Given the description of an element on the screen output the (x, y) to click on. 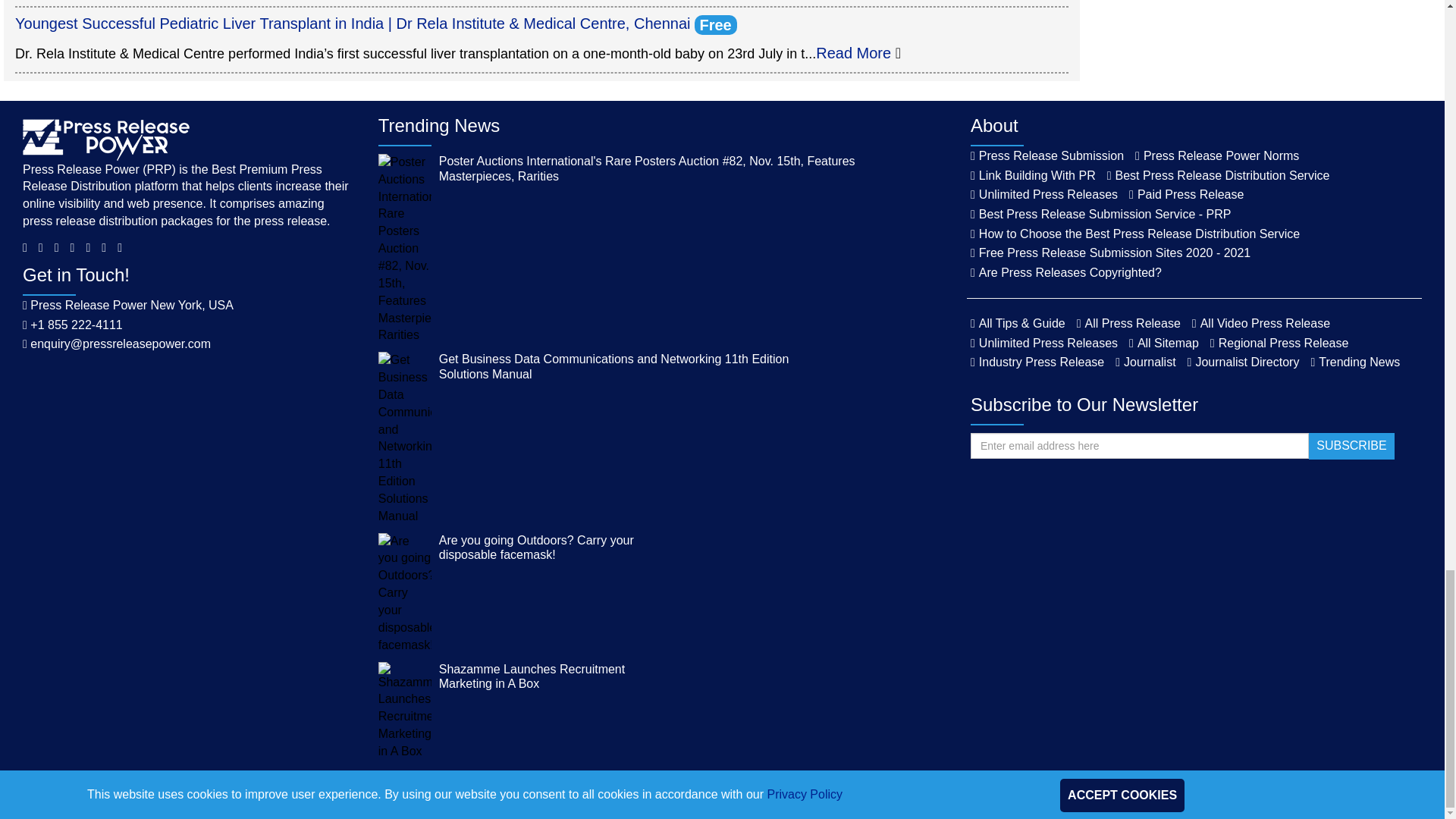
Press Release Power (106, 138)
